Given the description of an element on the screen output the (x, y) to click on. 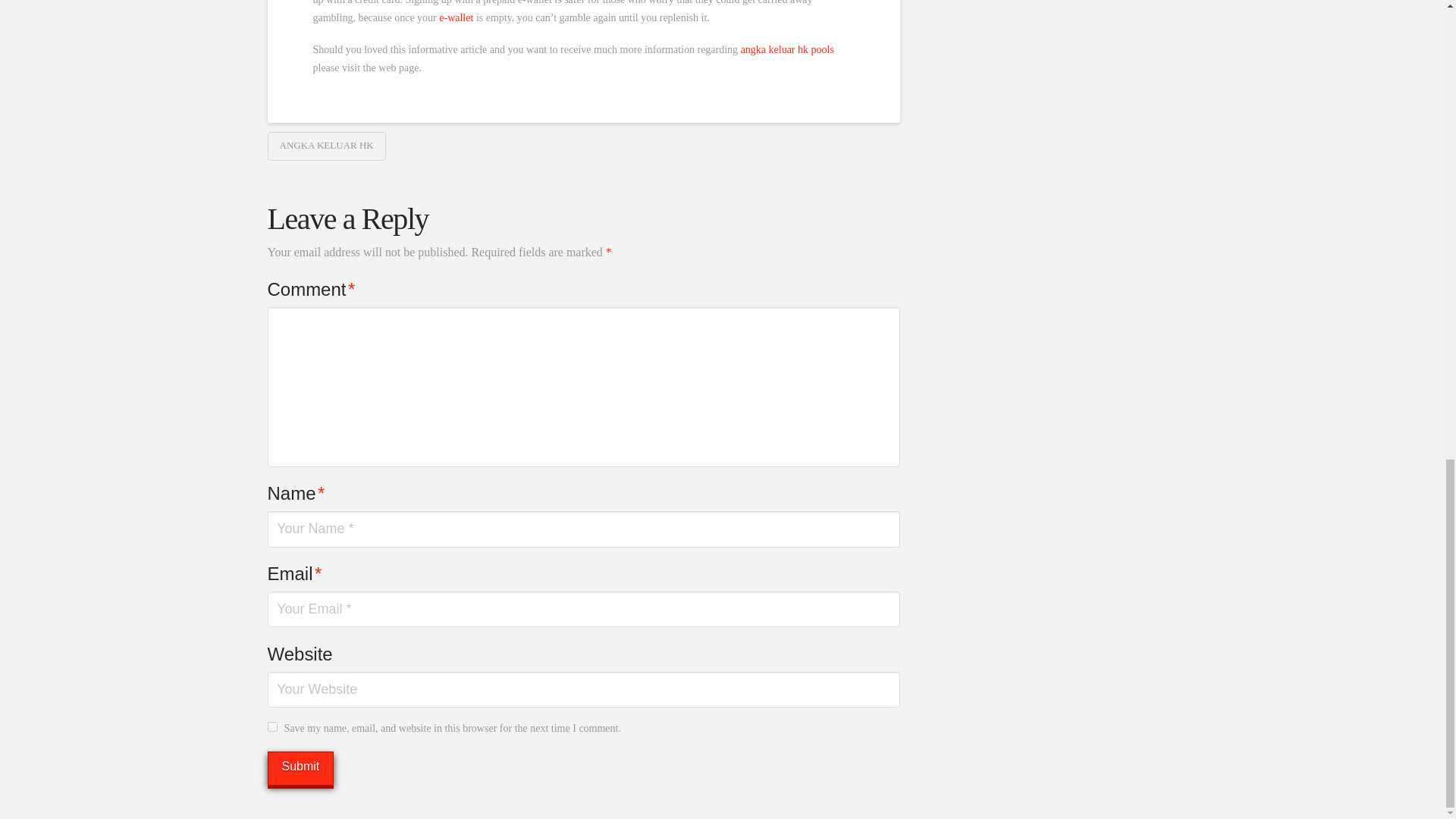
yes (271, 726)
e-wallet (456, 17)
ANGKA KELUAR HK (325, 145)
angka keluar hk pools (787, 49)
Submit (299, 768)
Submit (299, 768)
